Given the description of an element on the screen output the (x, y) to click on. 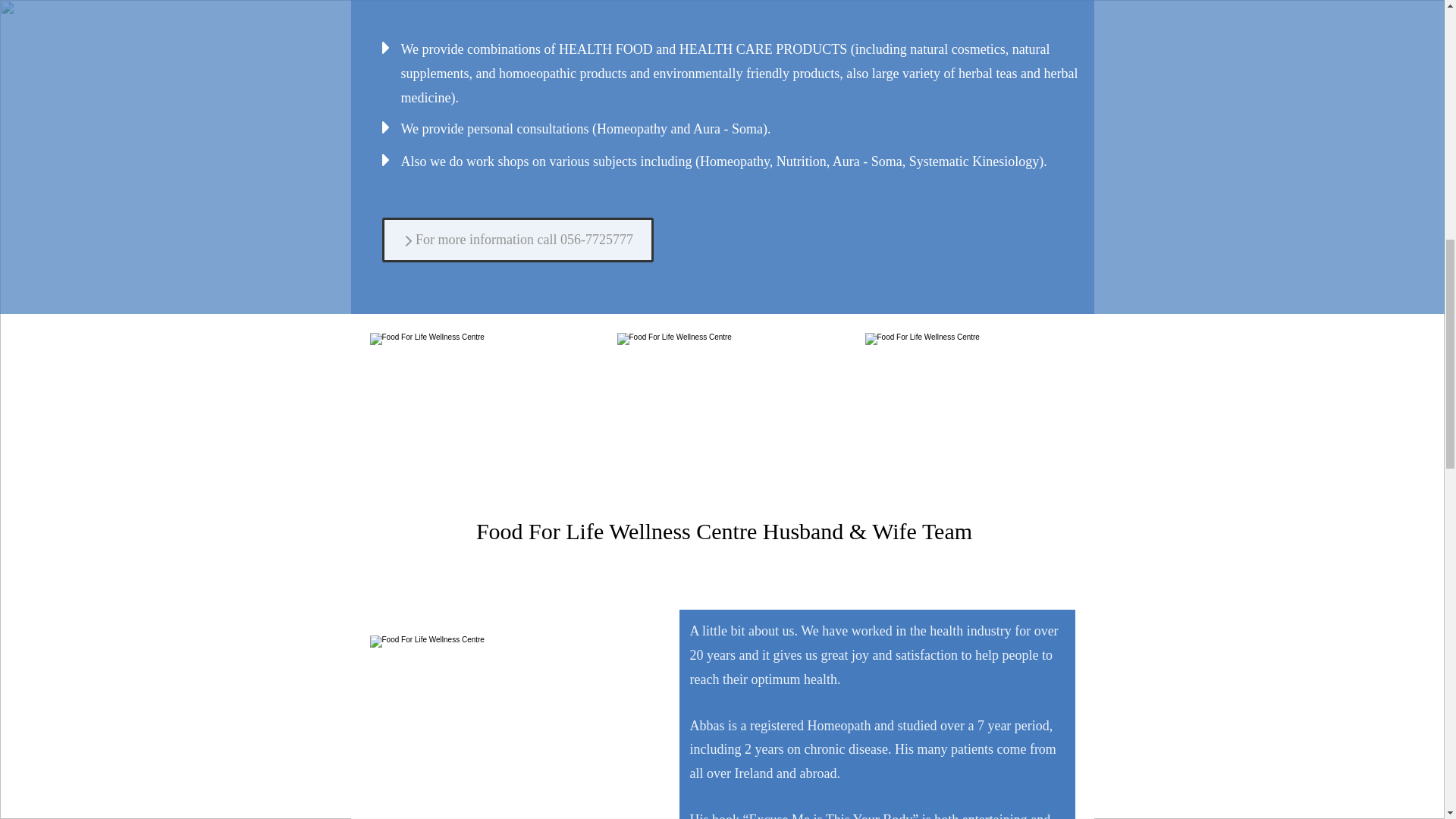
For more information call 056-7725777 (517, 239)
